Given the description of an element on the screen output the (x, y) to click on. 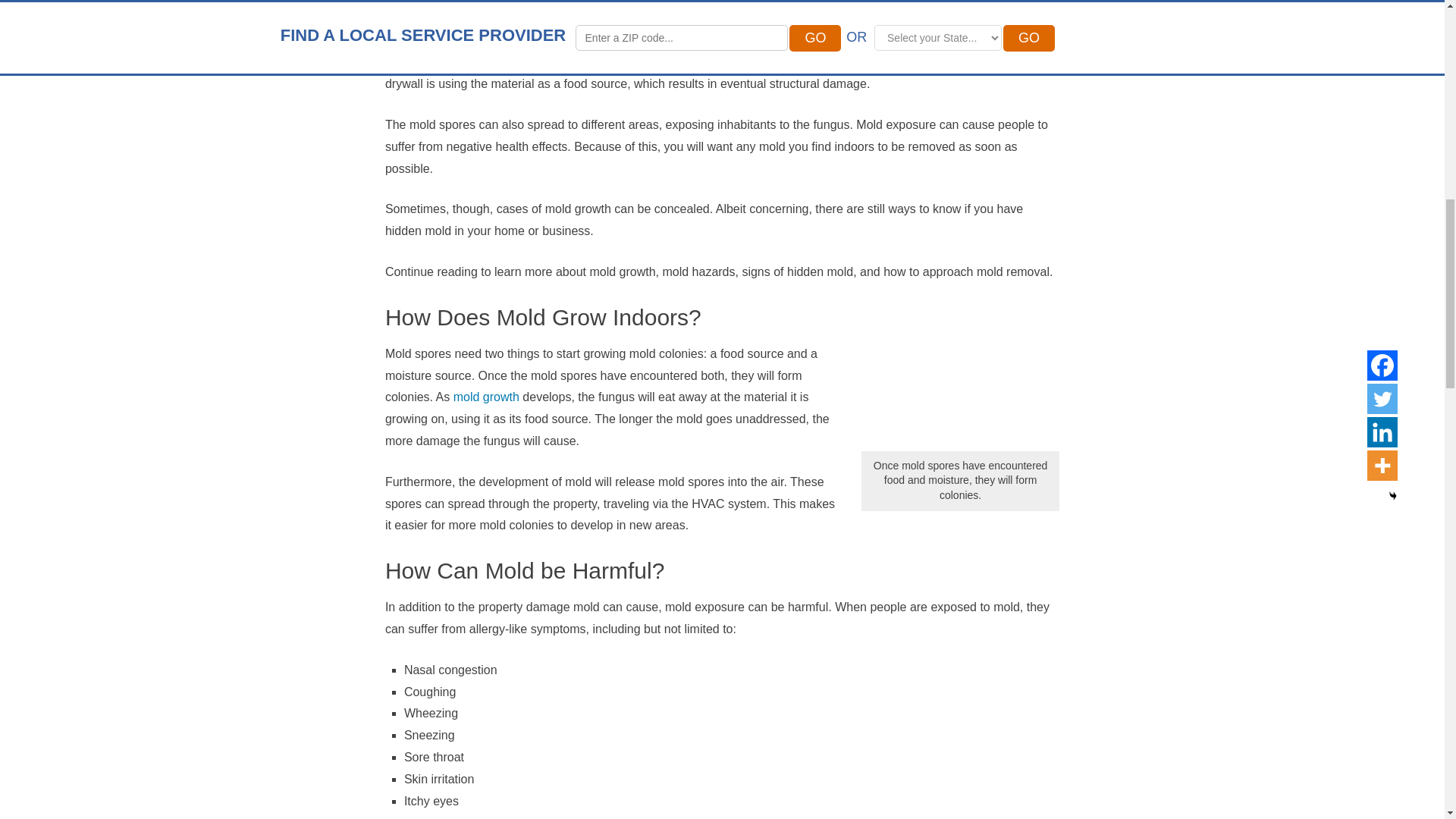
hidden black mold inside a broken out wall (960, 376)
mold growth (485, 396)
